Given the description of an element on the screen output the (x, y) to click on. 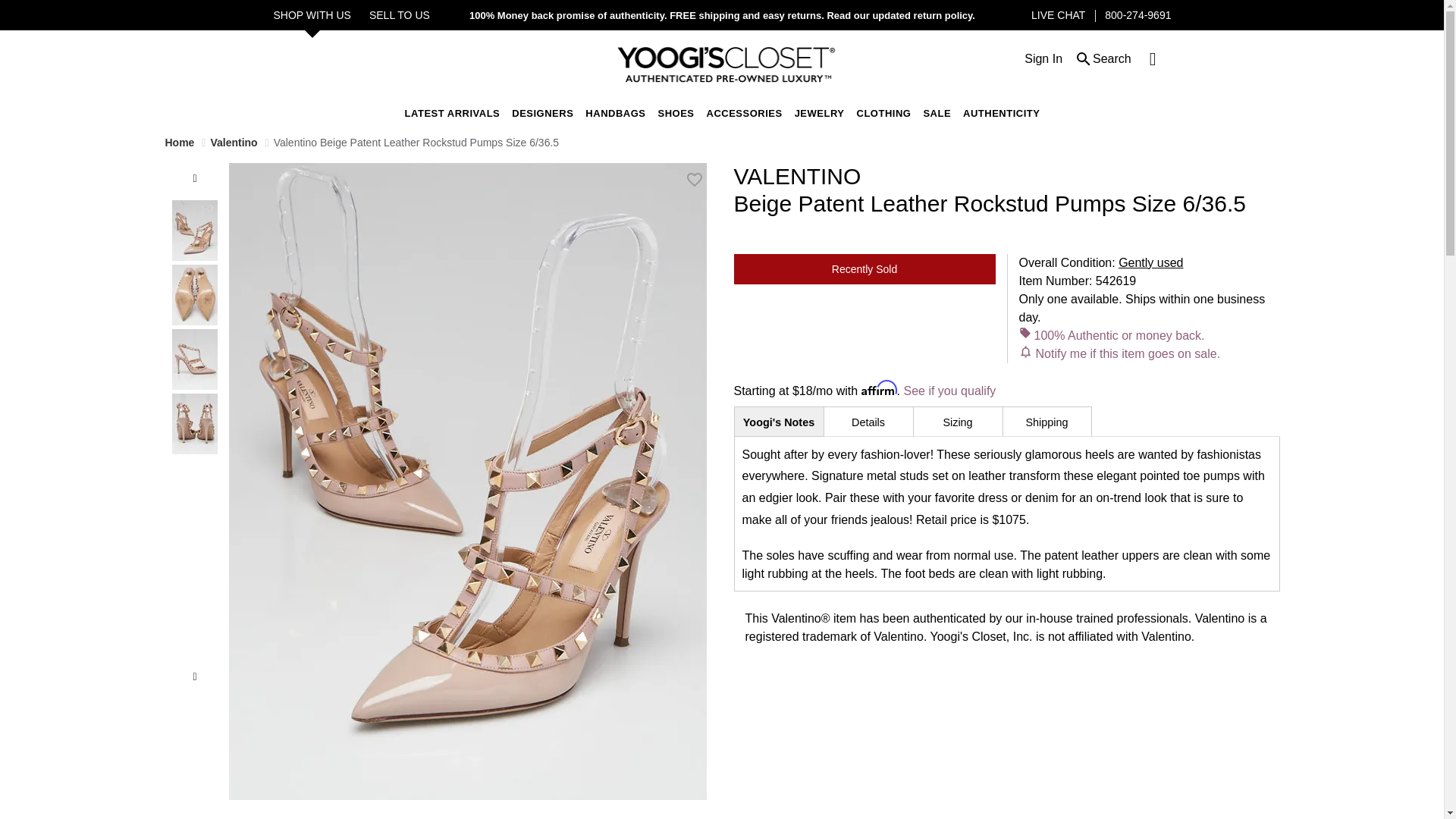
DESIGNERS (542, 112)
Add to Favorites (694, 178)
Bell Outline icon (1025, 350)
SELL TO US (399, 15)
LIVE CHAT (1057, 15)
Tag icon (1024, 331)
SHOP WITH US (311, 15)
LATEST ARRIVALS (452, 112)
Magnify icon (1083, 58)
800-274-9691 (1137, 15)
